Given the description of an element on the screen output the (x, y) to click on. 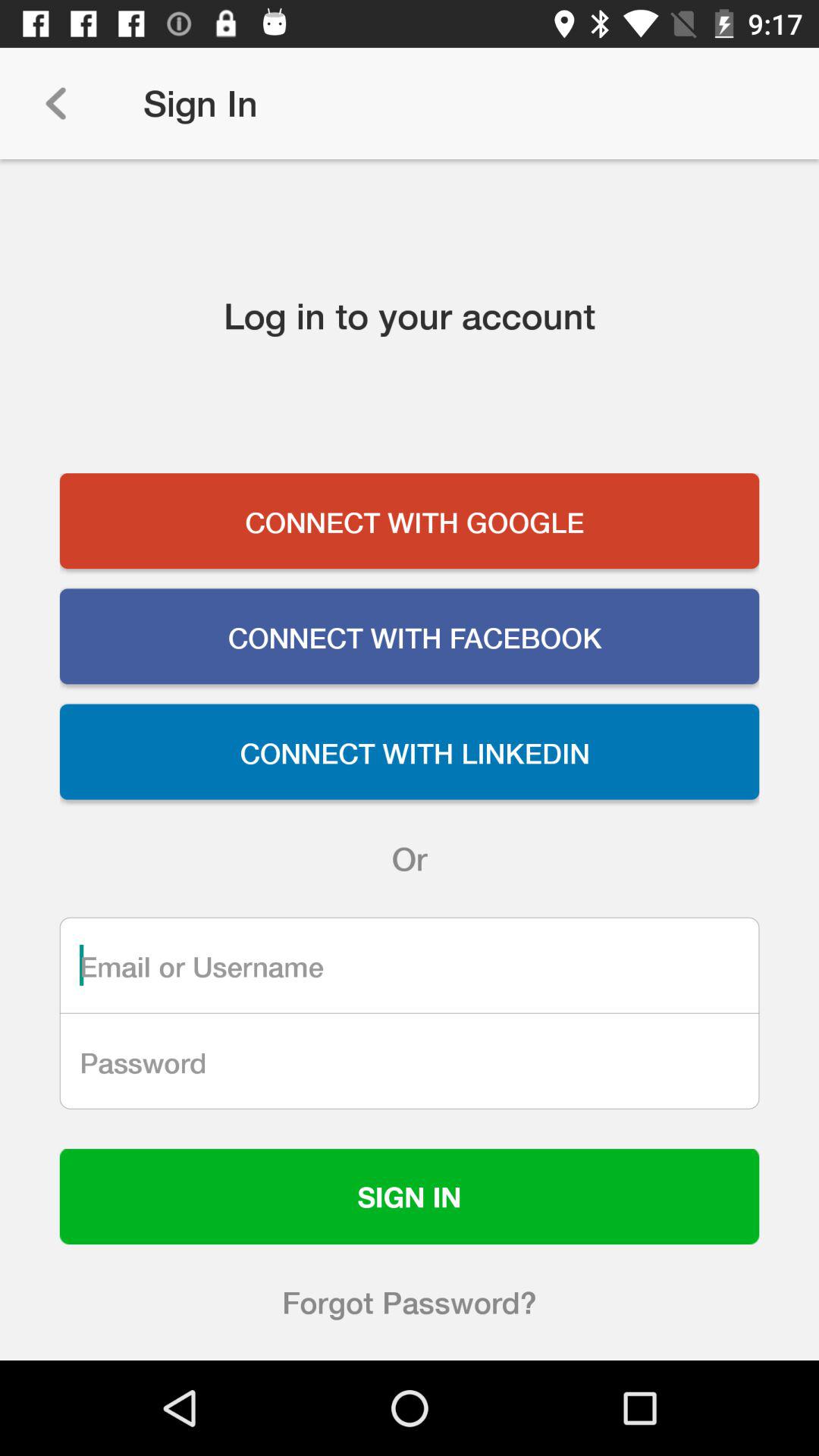
enter your password to log in (409, 1061)
